Given the description of an element on the screen output the (x, y) to click on. 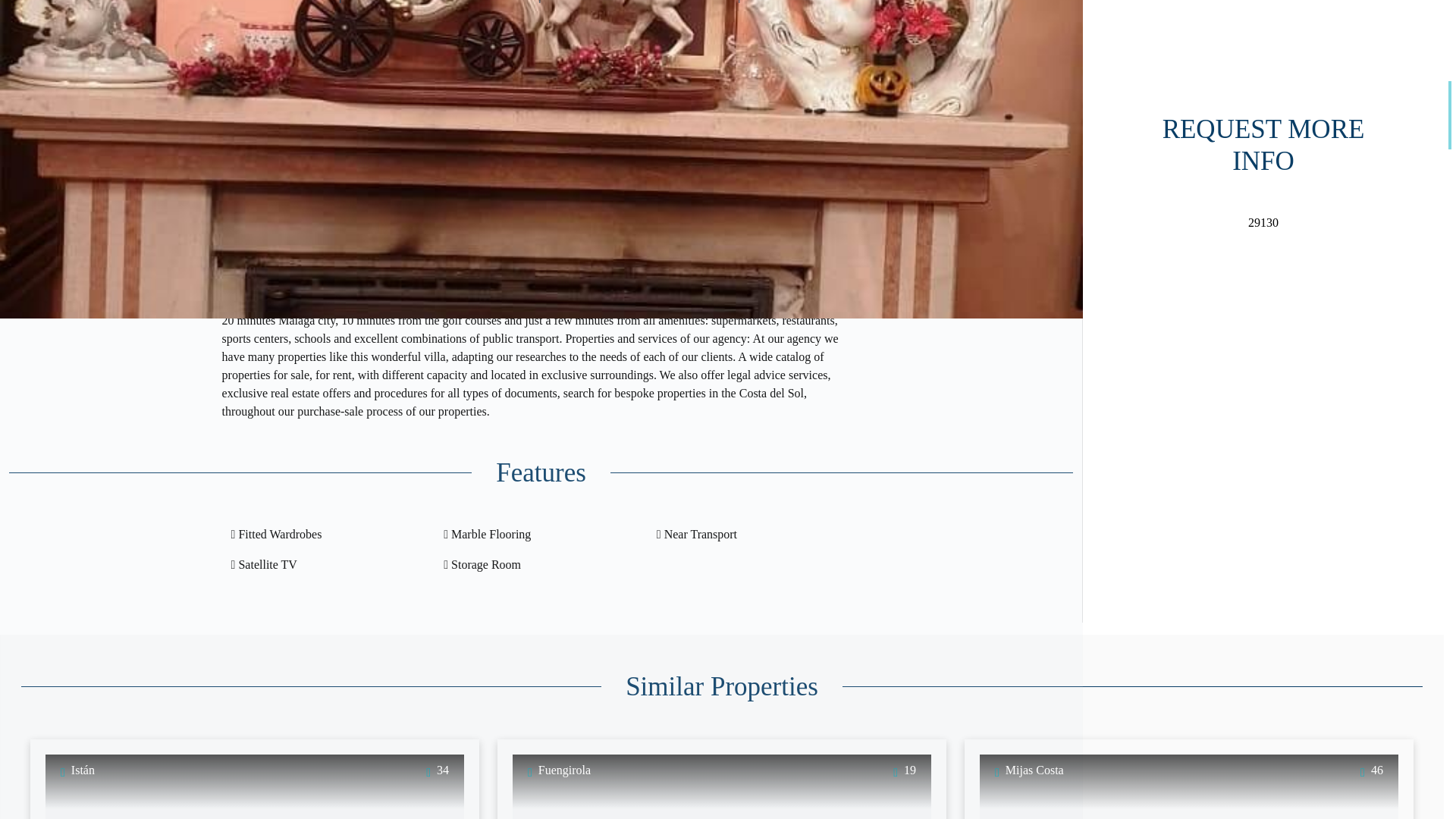
PRINT AS PDF (442, 60)
SHARE (640, 60)
